Given the description of an element on the screen output the (x, y) to click on. 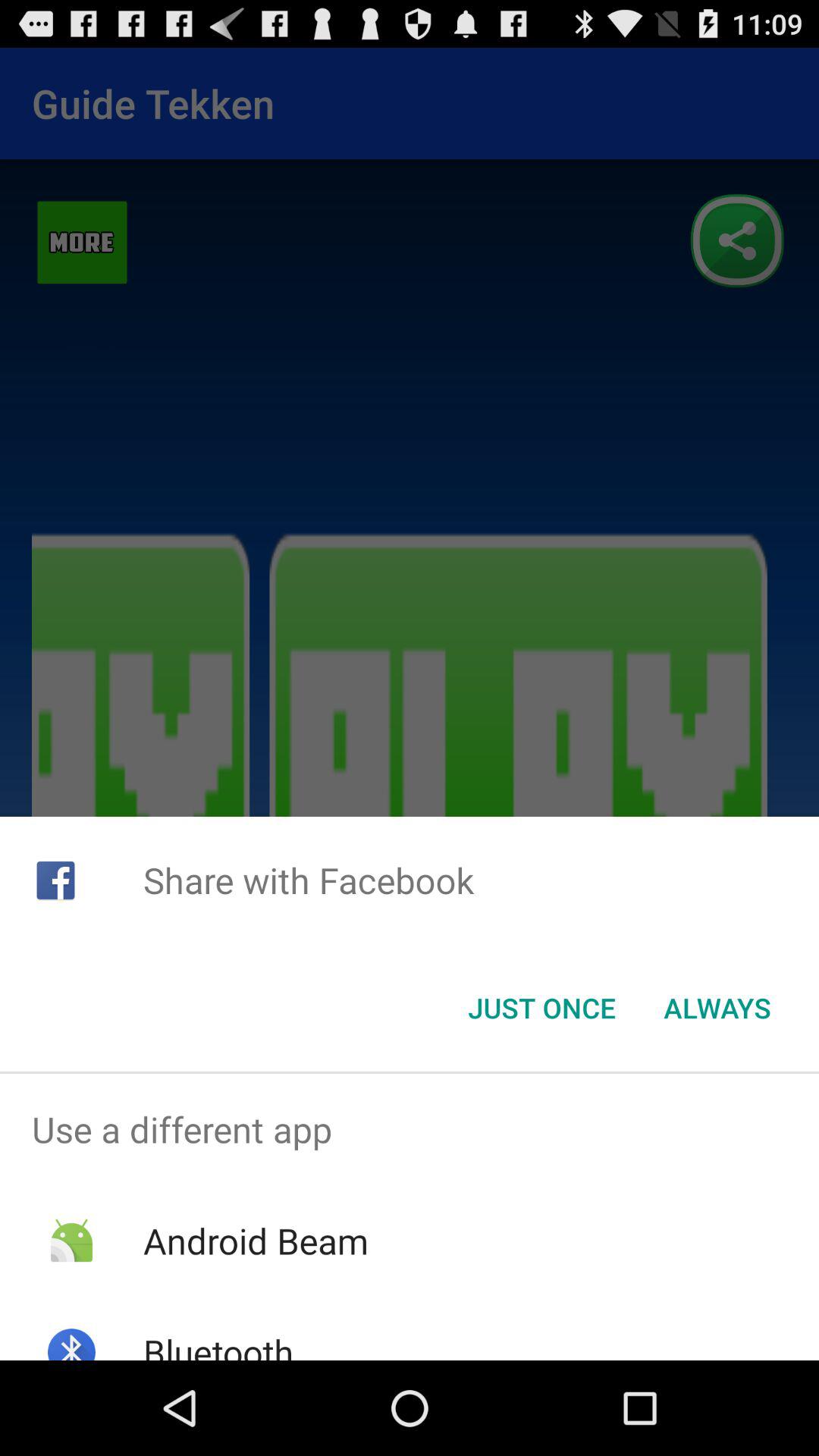
swipe until use a different app (409, 1129)
